Given the description of an element on the screen output the (x, y) to click on. 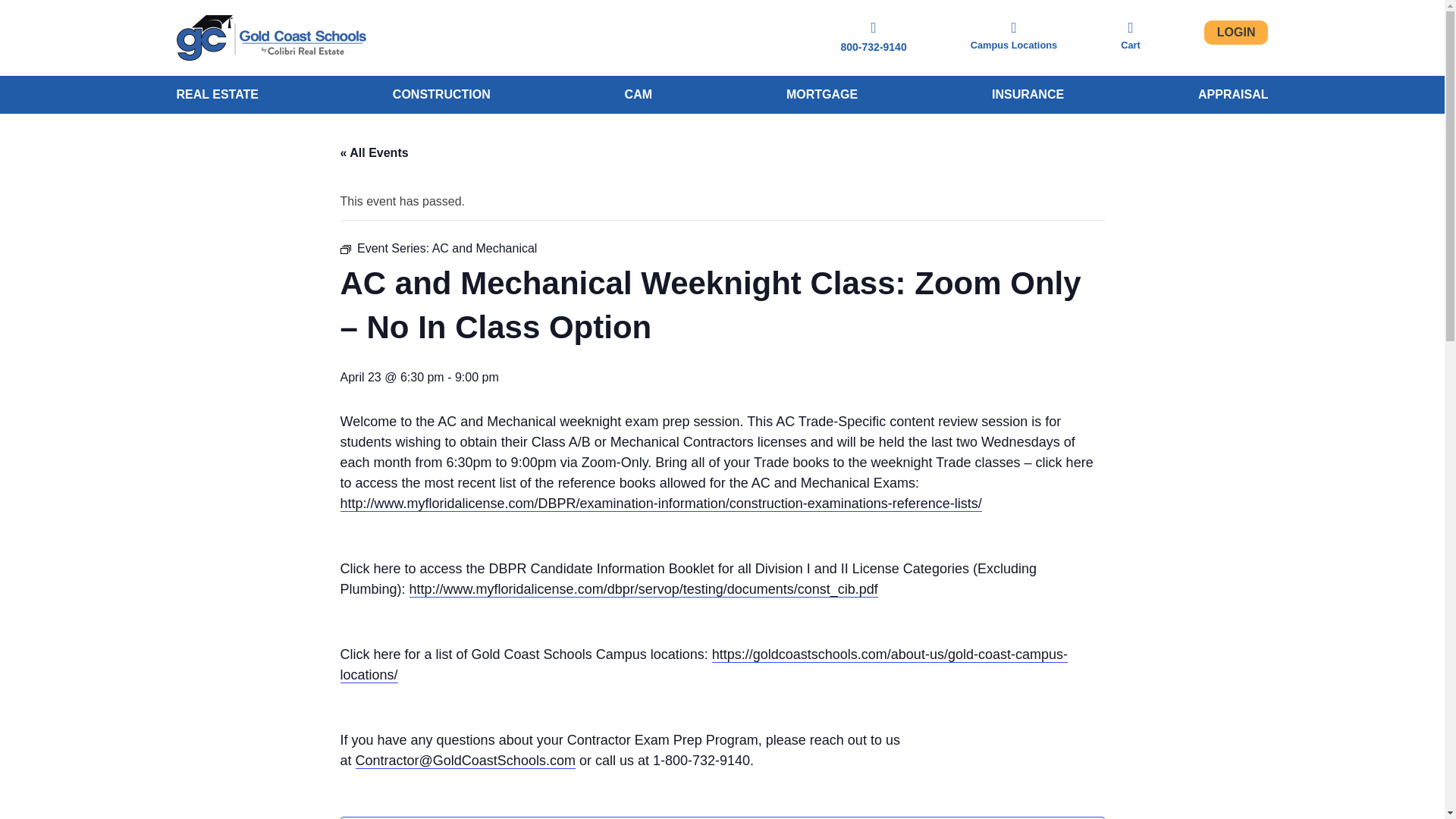
800-732-9140 (872, 46)
Event Series (344, 248)
Campus Locations (1014, 35)
LOGIN (1236, 32)
REAL ESTATE (216, 93)
LOGIN (1236, 32)
